Given the description of an element on the screen output the (x, y) to click on. 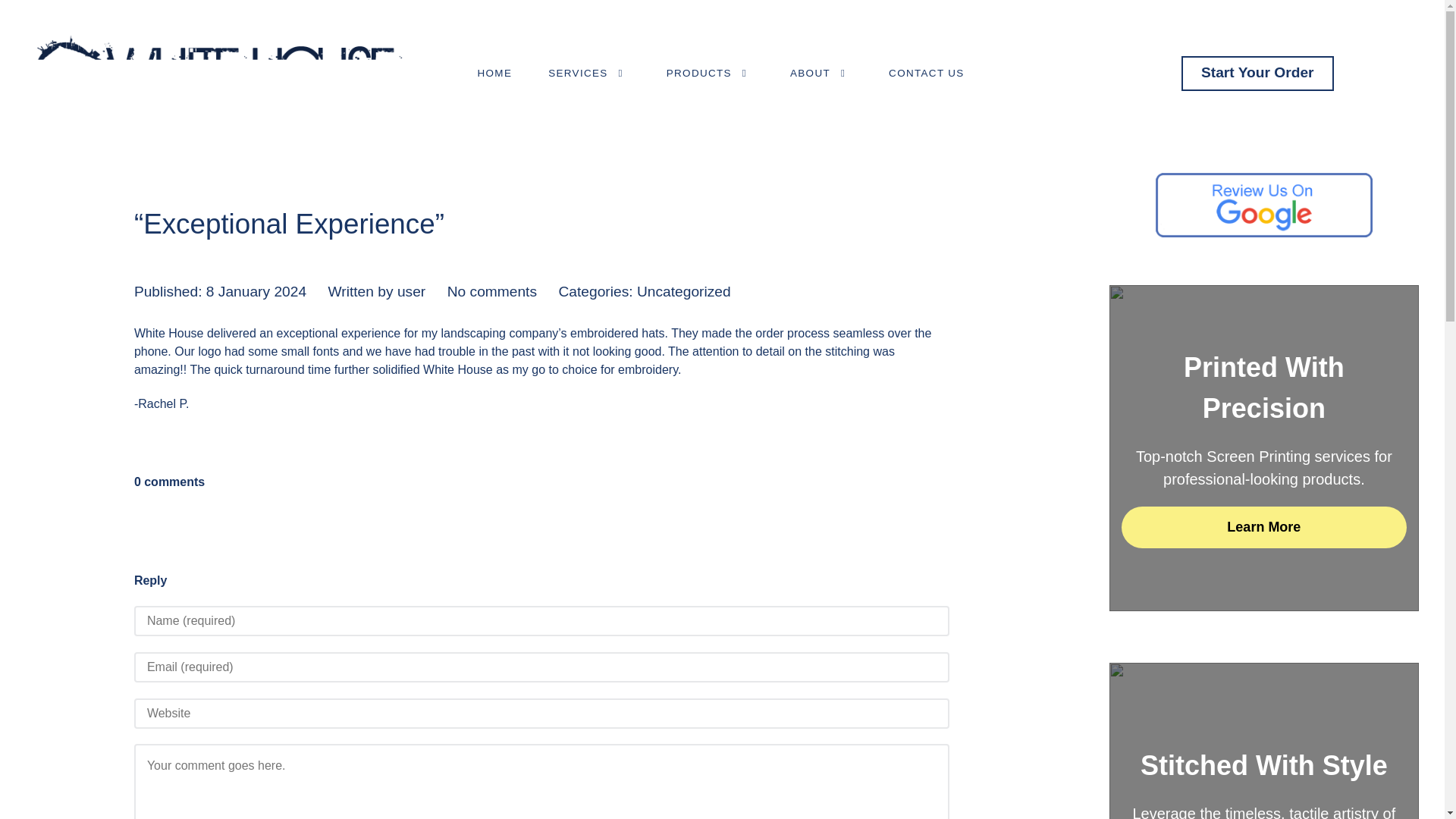
Start Your Order (1256, 73)
user (411, 291)
8 January 2024 (255, 291)
user (411, 291)
Learn More (1263, 526)
Uncategorized (683, 291)
Start Your Order (1256, 73)
PRODUCTS (709, 72)
Uncategorized (683, 291)
SERVICES (588, 72)
